Given the description of an element on the screen output the (x, y) to click on. 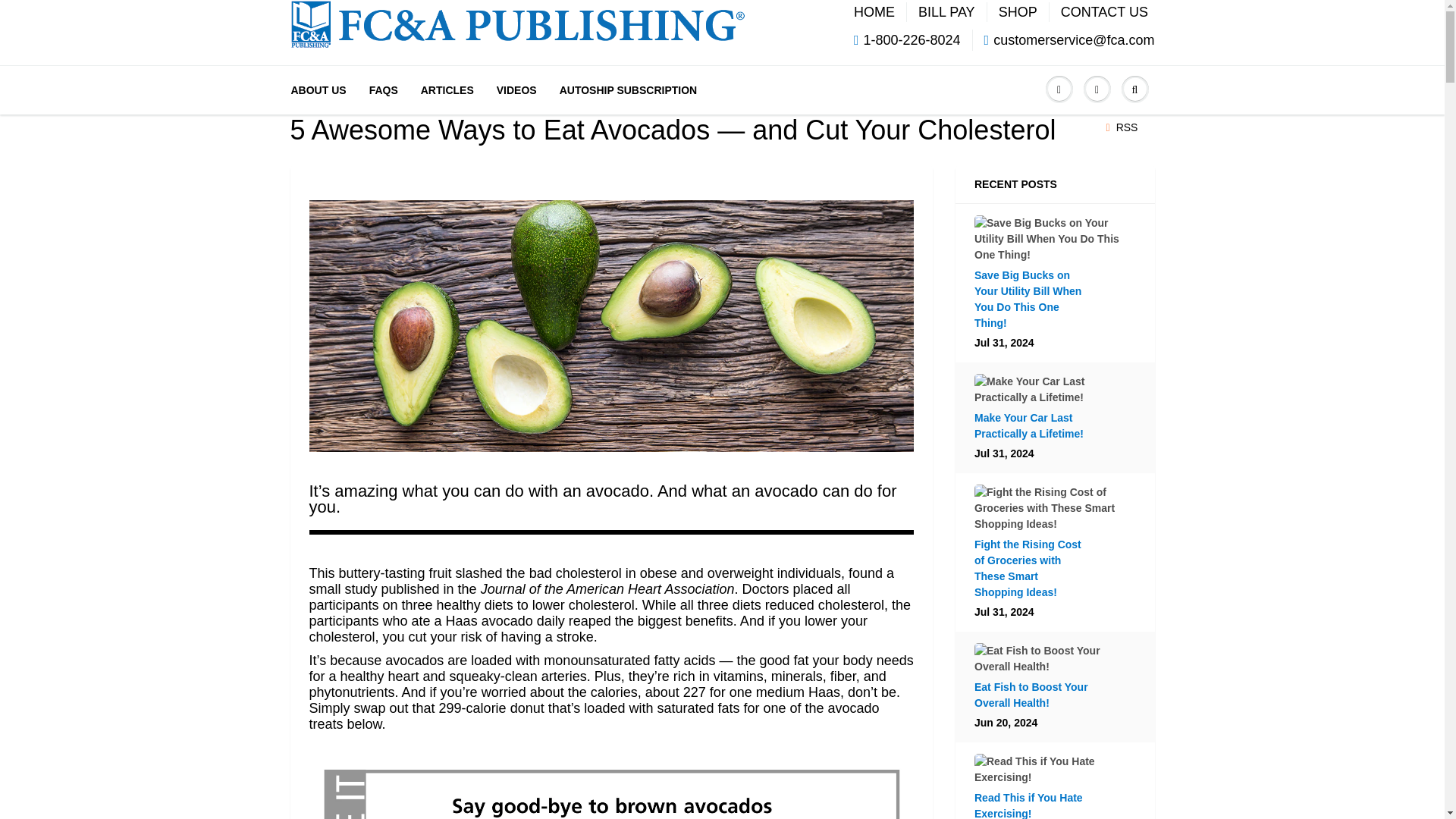
1-800-226-8024 (906, 39)
VIDEOS (516, 89)
FAQS (383, 89)
AUTOSHIP SUBSCRIPTION (628, 89)
SHOP (1017, 11)
CONTACT US (1104, 11)
ARTICLES (446, 89)
BILL PAY (946, 11)
RSS (1121, 127)
HOME (874, 11)
